Given the description of an element on the screen output the (x, y) to click on. 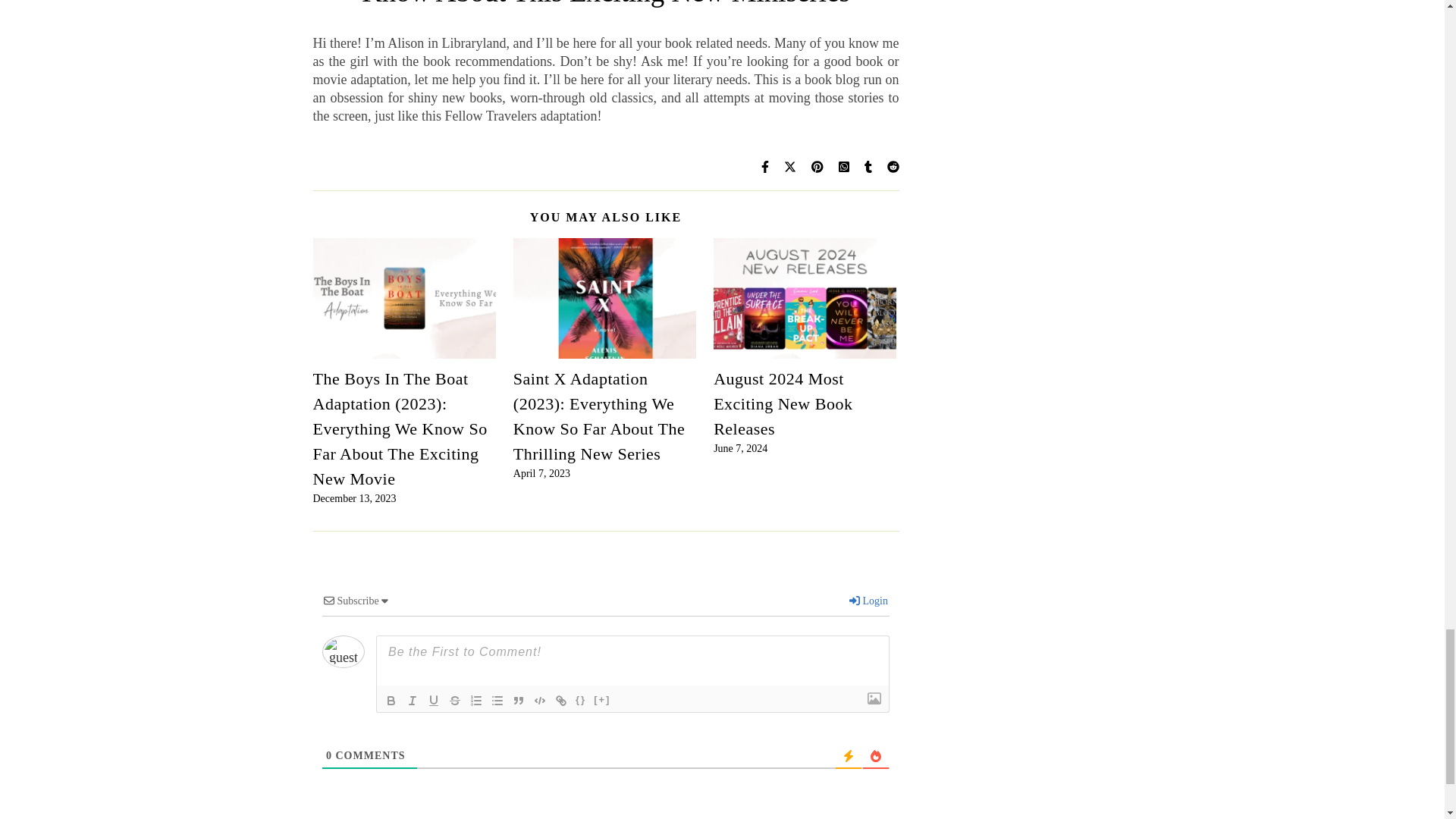
Underline (433, 700)
Bold (390, 700)
Spoiler (601, 700)
August 2024 Most Exciting New Book Releases (782, 403)
Ordered List (475, 700)
Unordered List (497, 700)
Code Block (539, 700)
Source Code (580, 700)
Login (868, 600)
Blockquote (518, 700)
Link (561, 700)
Italic (412, 700)
Strike (454, 700)
